Given the description of an element on the screen output the (x, y) to click on. 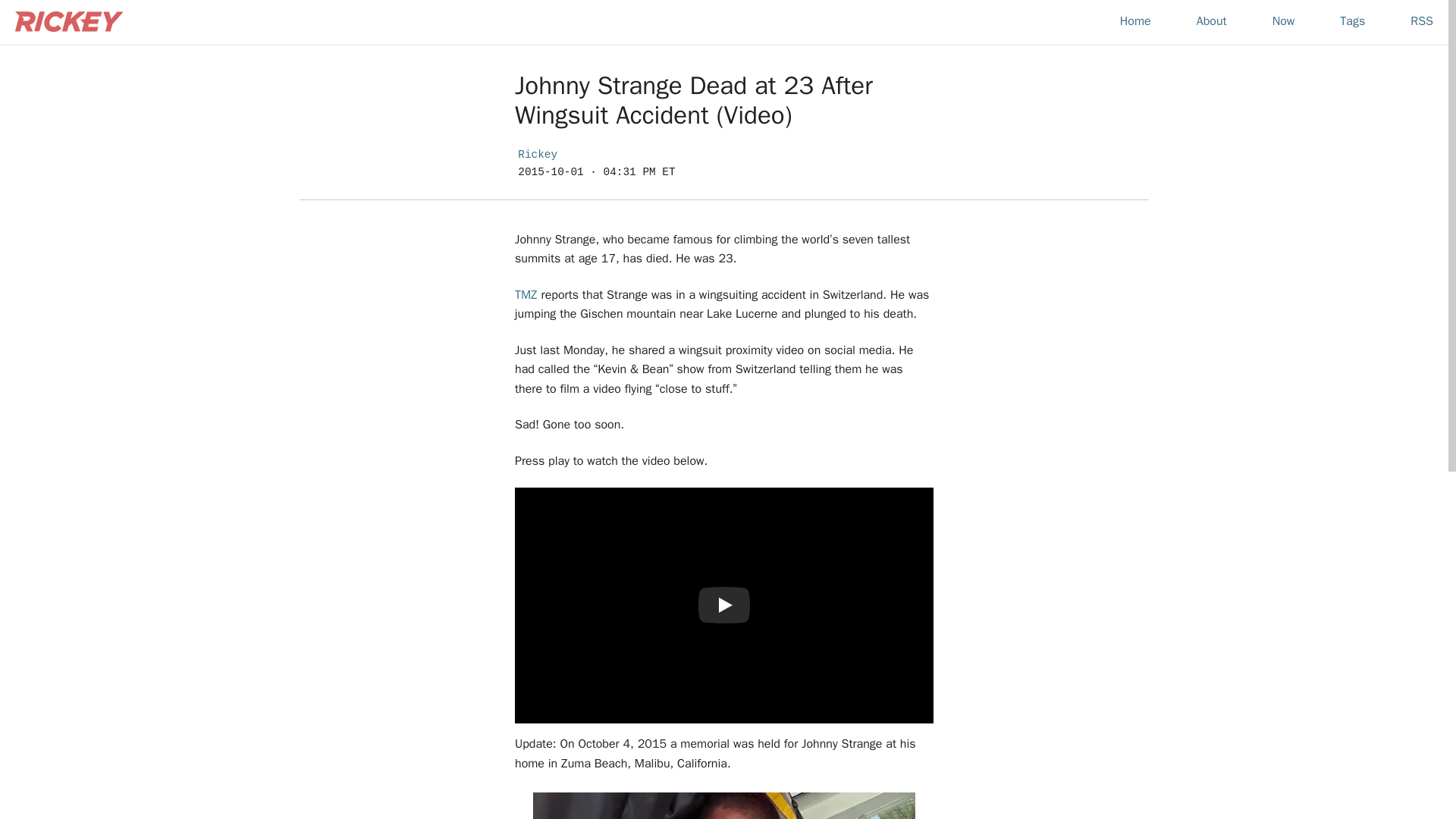
Home (1135, 22)
YouTube Lite Embed (723, 605)
TMZ (526, 294)
About (1211, 22)
Tags (1352, 22)
Now (1283, 22)
Rickey (537, 154)
